Given the description of an element on the screen output the (x, y) to click on. 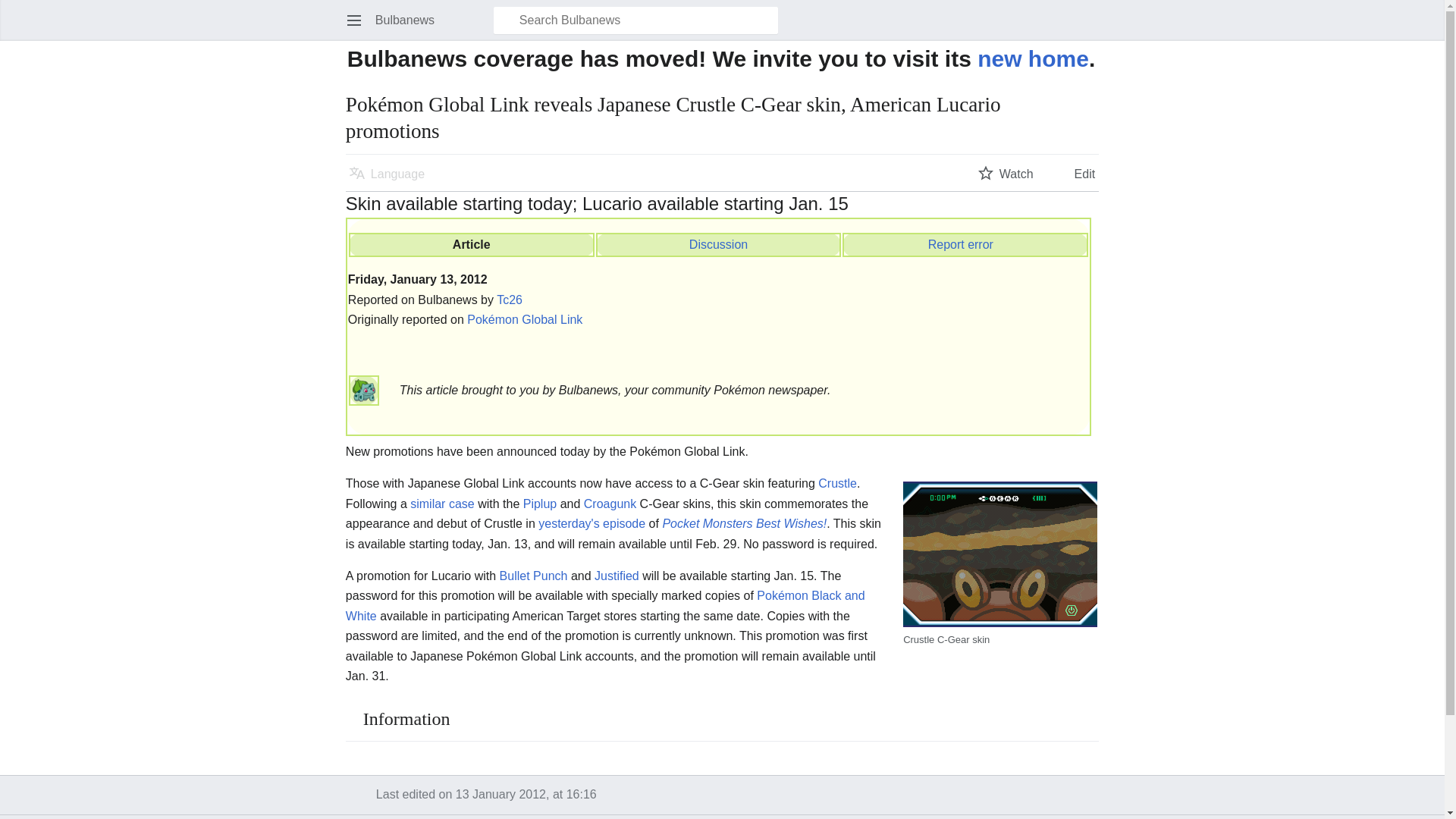
bp:Best Wishes series (744, 522)
bp:SS025 (461, 503)
similar (427, 503)
bp:BW062 (591, 522)
Piplup (539, 503)
Edit the lead section of this page (1074, 172)
Watch (1005, 172)
Open main menu (353, 20)
Discussion (718, 244)
Watch (1005, 172)
Edit (1074, 172)
bmgf:125437 (718, 244)
Pocket Monsters Best Wishes! (744, 522)
Language (386, 172)
Crustle (837, 482)
